Given the description of an element on the screen output the (x, y) to click on. 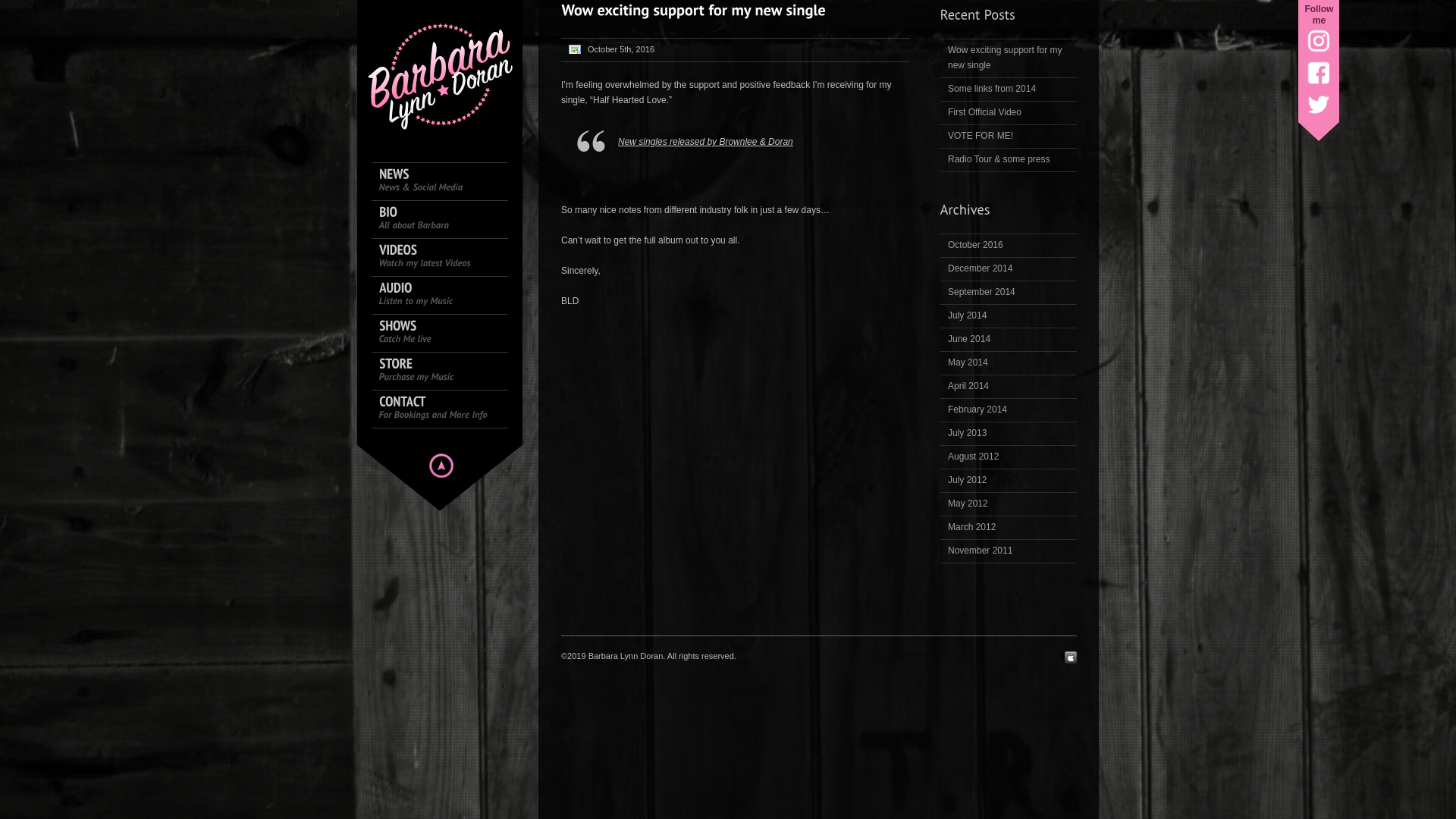
March 2012 Element type: text (1008, 527)
July 2014 Element type: text (1008, 315)
June 2014 Element type: text (1008, 339)
October 2016 Element type: text (1008, 245)
iTunes Element type: hover (1070, 657)
April 2014 Element type: text (1008, 386)
Hide menu Element type: text (441, 465)
Radio Tour & some press Element type: text (1008, 159)
Some links from 2014 Element type: text (1008, 89)
First Official Video Element type: text (1008, 112)
New singles released by Brownlee & Doran Element type: text (705, 141)
November 2011 Element type: text (1008, 550)
July 2012 Element type: text (1008, 480)
Wow exciting support for my new single Element type: text (1008, 58)
December 2014 Element type: text (1008, 268)
August 2012 Element type: text (1008, 456)
September 2014 Element type: text (1008, 292)
February 2014 Element type: text (1008, 409)
July 2013 Element type: text (1008, 433)
May 2014 Element type: text (1008, 362)
VOTE FOR ME! Element type: text (1008, 136)
May 2012 Element type: text (1008, 503)
